Given the description of an element on the screen output the (x, y) to click on. 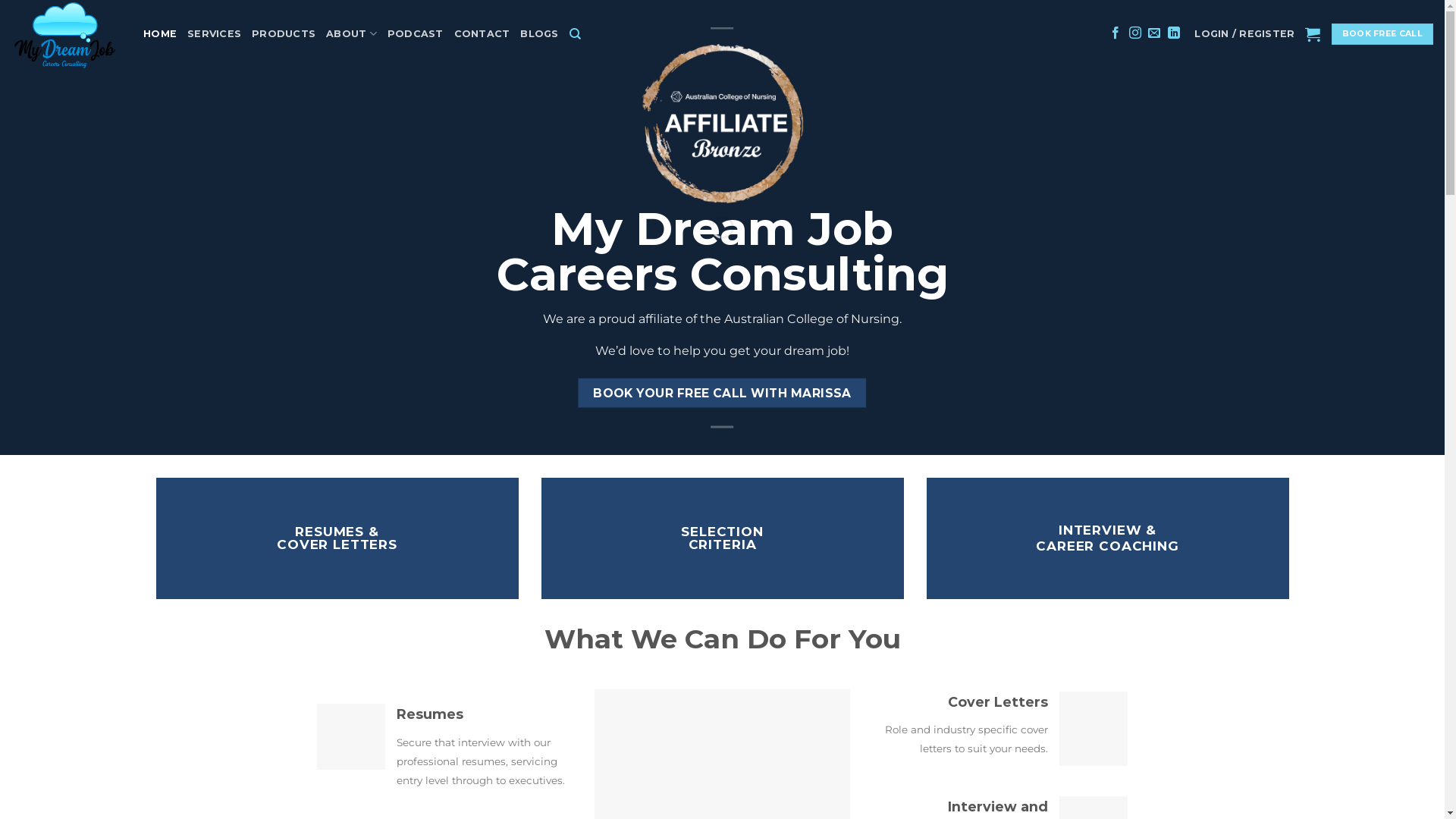
PODCAST Element type: text (415, 33)
SERVICES Element type: text (214, 33)
INTERVIEW & Element type: text (1107, 529)
HOME Element type: text (159, 33)
My Dream Job Careers Consulting - Resume Writer Element type: hover (65, 34)
CAREER COACHING Element type: text (1107, 545)
LOGIN / REGISTER Element type: text (1244, 33)
RESUMES &
COVER LETTERS Element type: text (336, 538)
SELECTION
CRITERIA Element type: text (721, 538)
Follow on Facebook Element type: hover (1115, 33)
PRODUCTS Element type: text (283, 33)
Follow on Instagram Element type: hover (1135, 33)
CONTACT Element type: text (482, 33)
Send us an email Element type: hover (1154, 33)
ABOUT Element type: text (351, 33)
Cart Element type: hover (1312, 33)
BLOGS Element type: text (539, 33)
Follow on LinkedIn Element type: hover (1173, 33)
BOOK YOUR FREE CALL WITH MARISSA Element type: text (721, 392)
BOOK FREE CALL Element type: text (1382, 33)
